Given the description of an element on the screen output the (x, y) to click on. 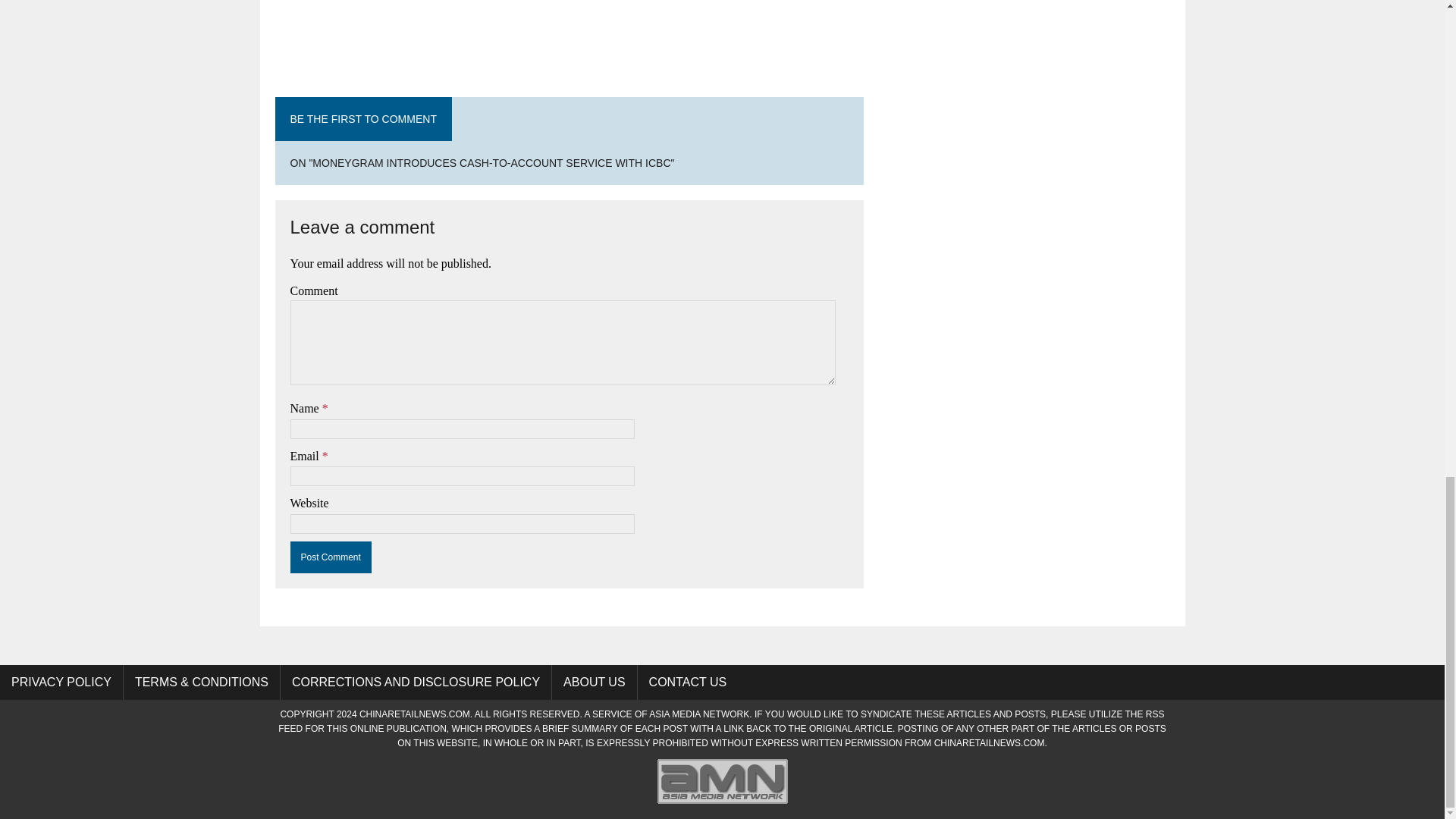
Post Comment (330, 557)
Post Comment (330, 557)
Advertisement (569, 29)
Asia Media Network (721, 803)
Asia Media Network (699, 714)
